Given the description of an element on the screen output the (x, y) to click on. 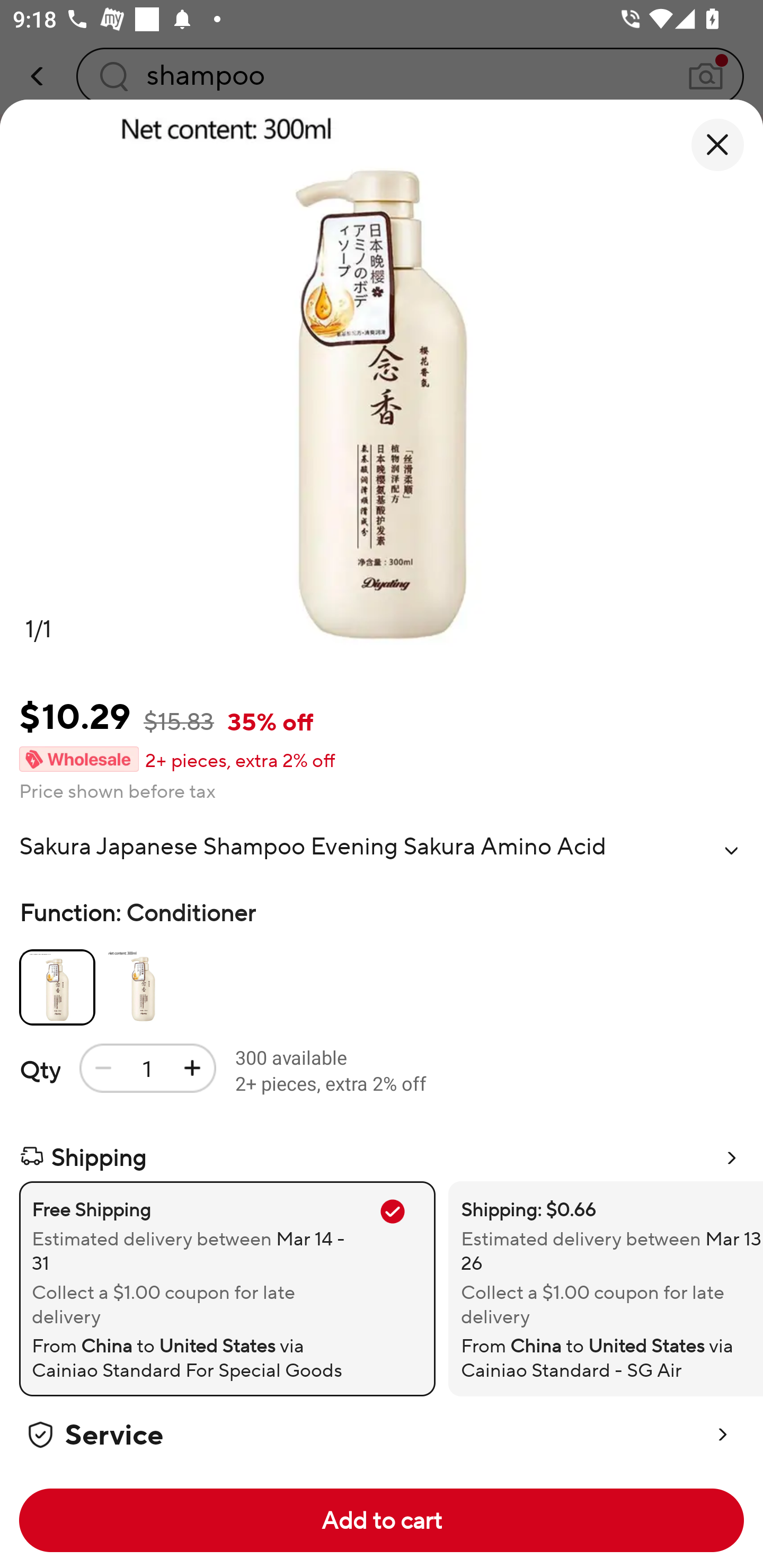
close  (717, 144)
 (730, 850)
Add to cart (381, 1520)
